Given the description of an element on the screen output the (x, y) to click on. 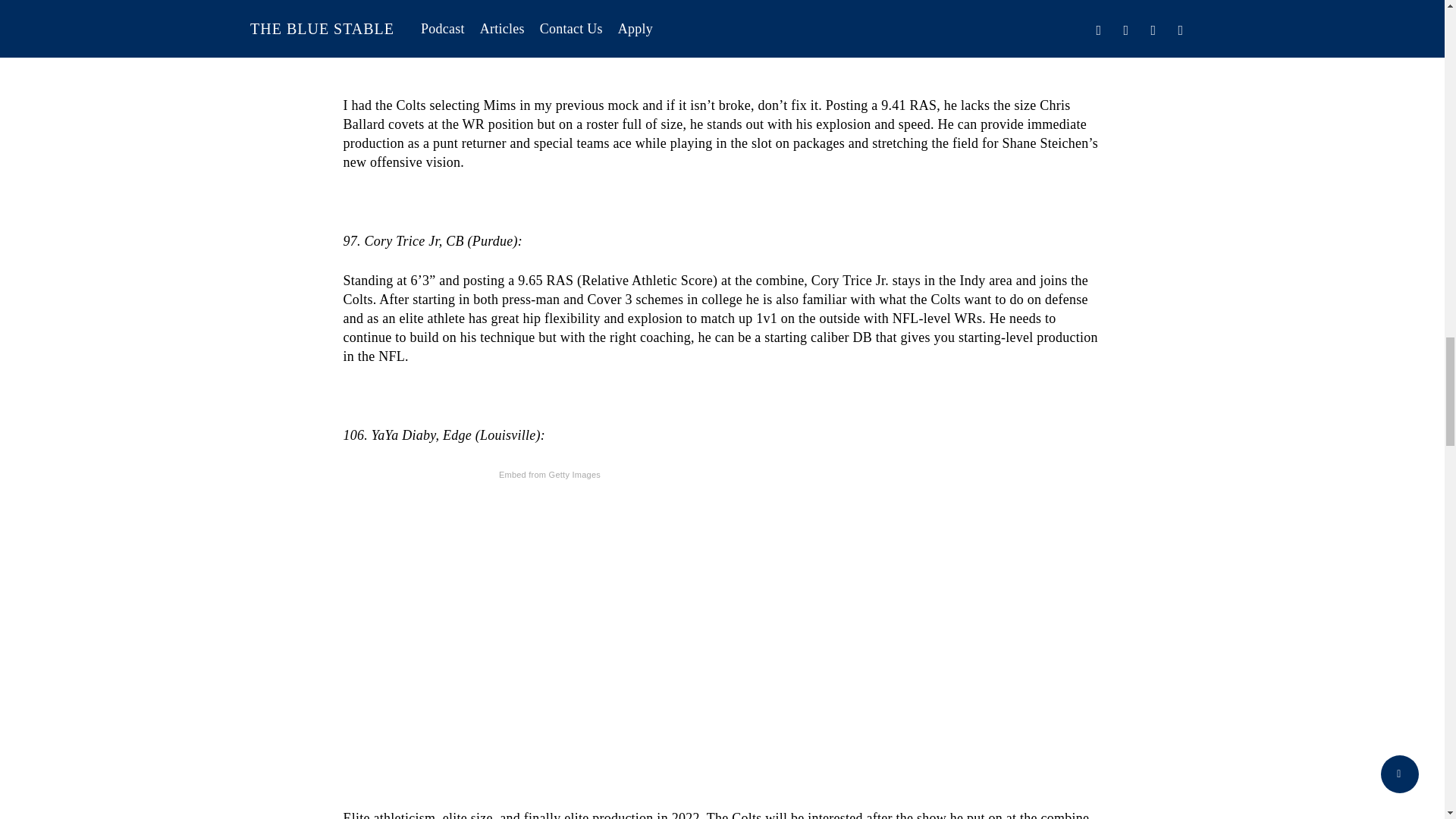
Embed from Getty Images (549, 475)
